Given the description of an element on the screen output the (x, y) to click on. 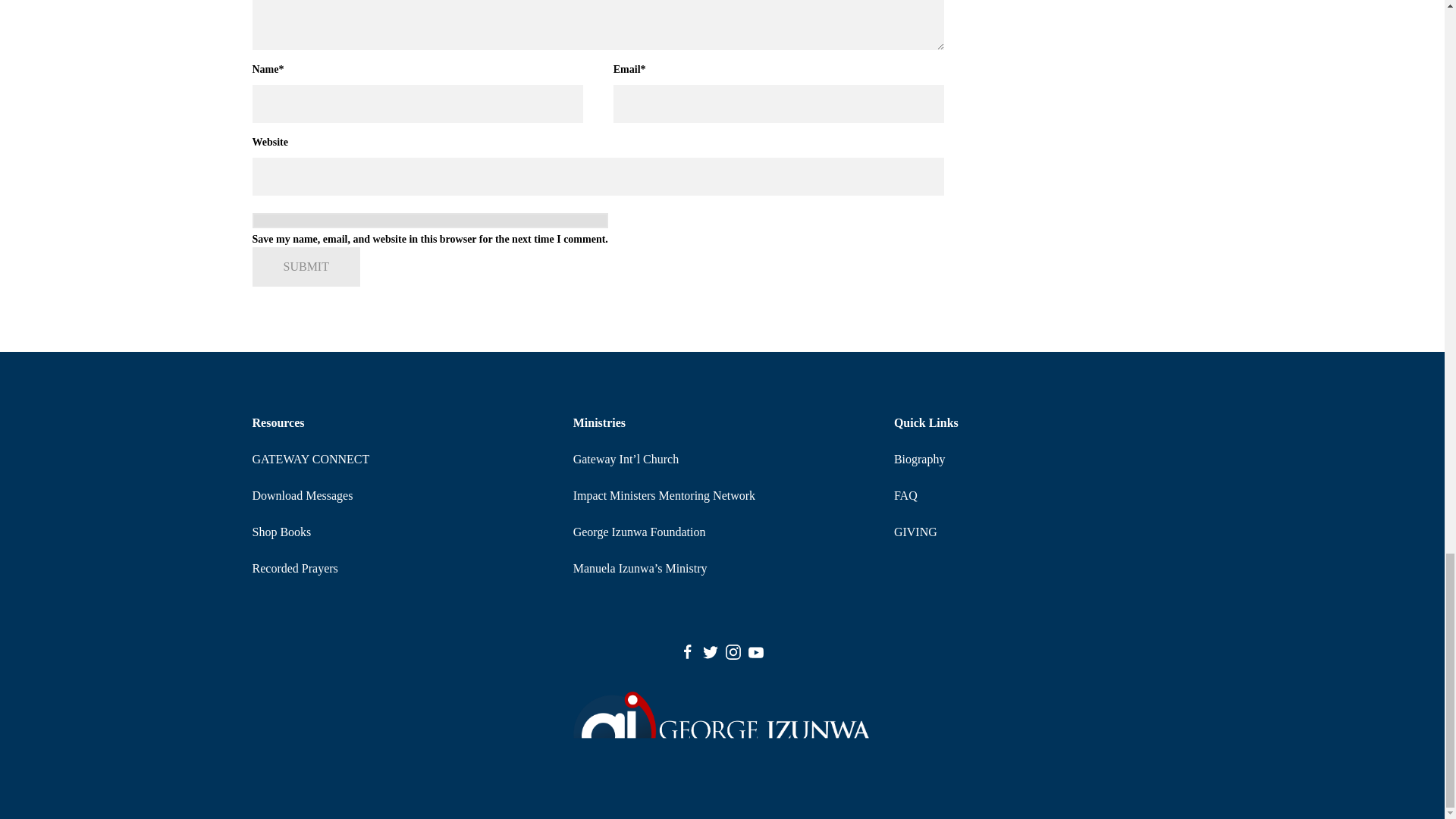
SUBMIT (305, 266)
Recorded Prayers (294, 567)
Impact Ministers Mentoring Network (664, 495)
Shop Books (281, 531)
George Izunwa Foundation (639, 531)
GATEWAY CONNECT (310, 459)
yes (429, 220)
Download Messages (301, 495)
